Given the description of an element on the screen output the (x, y) to click on. 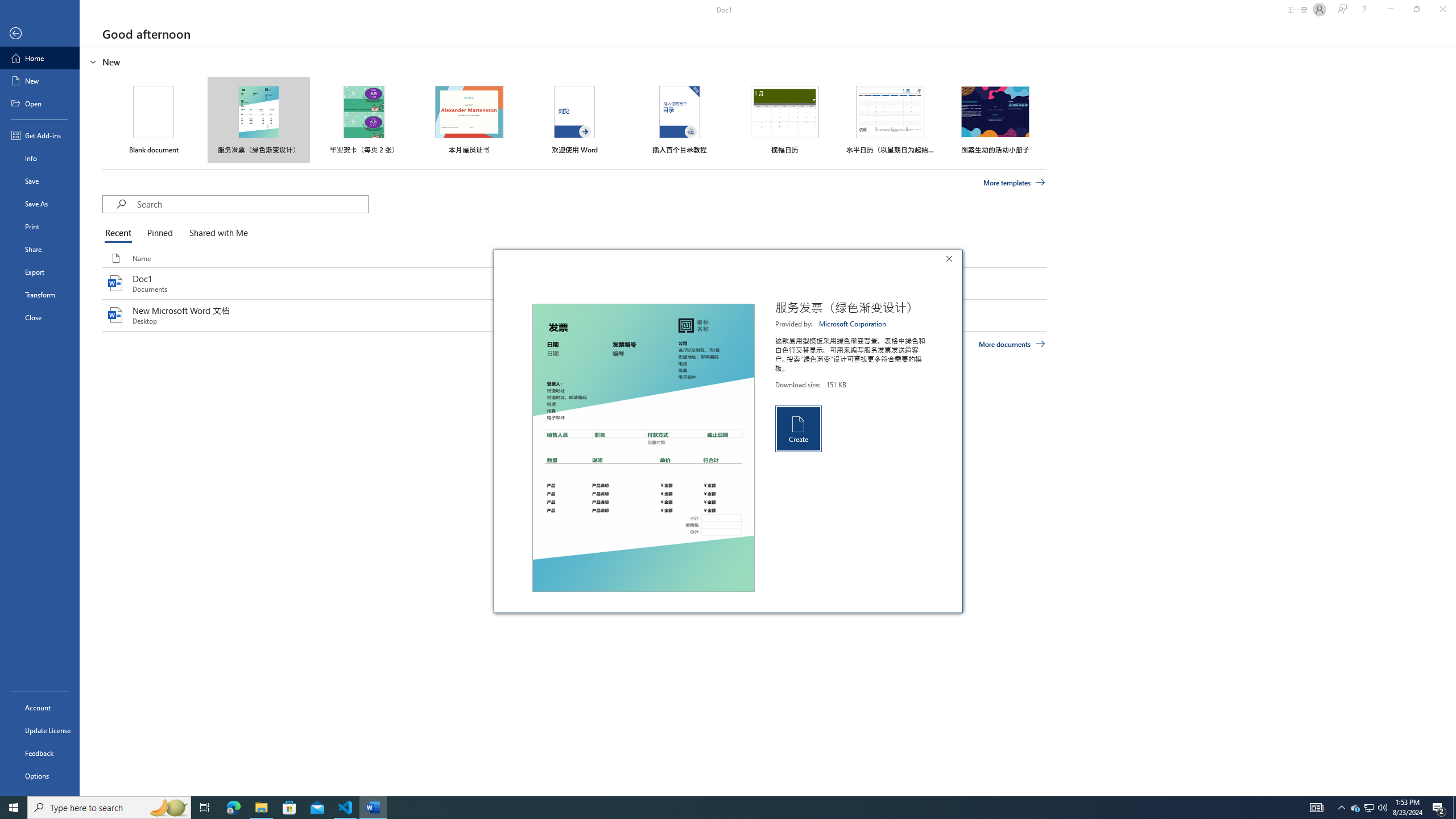
Show desktop (1454, 807)
Microsoft Corporation (853, 323)
Search highlights icon opens search home window (167, 807)
New (40, 80)
Microsoft Store (289, 807)
Notification Chevron (1341, 807)
Get Add-ins (40, 134)
Account (40, 707)
Hide or show region (92, 61)
Microsoft Edge (233, 807)
More documents (1011, 343)
Type here to search (108, 807)
